Given the description of an element on the screen output the (x, y) to click on. 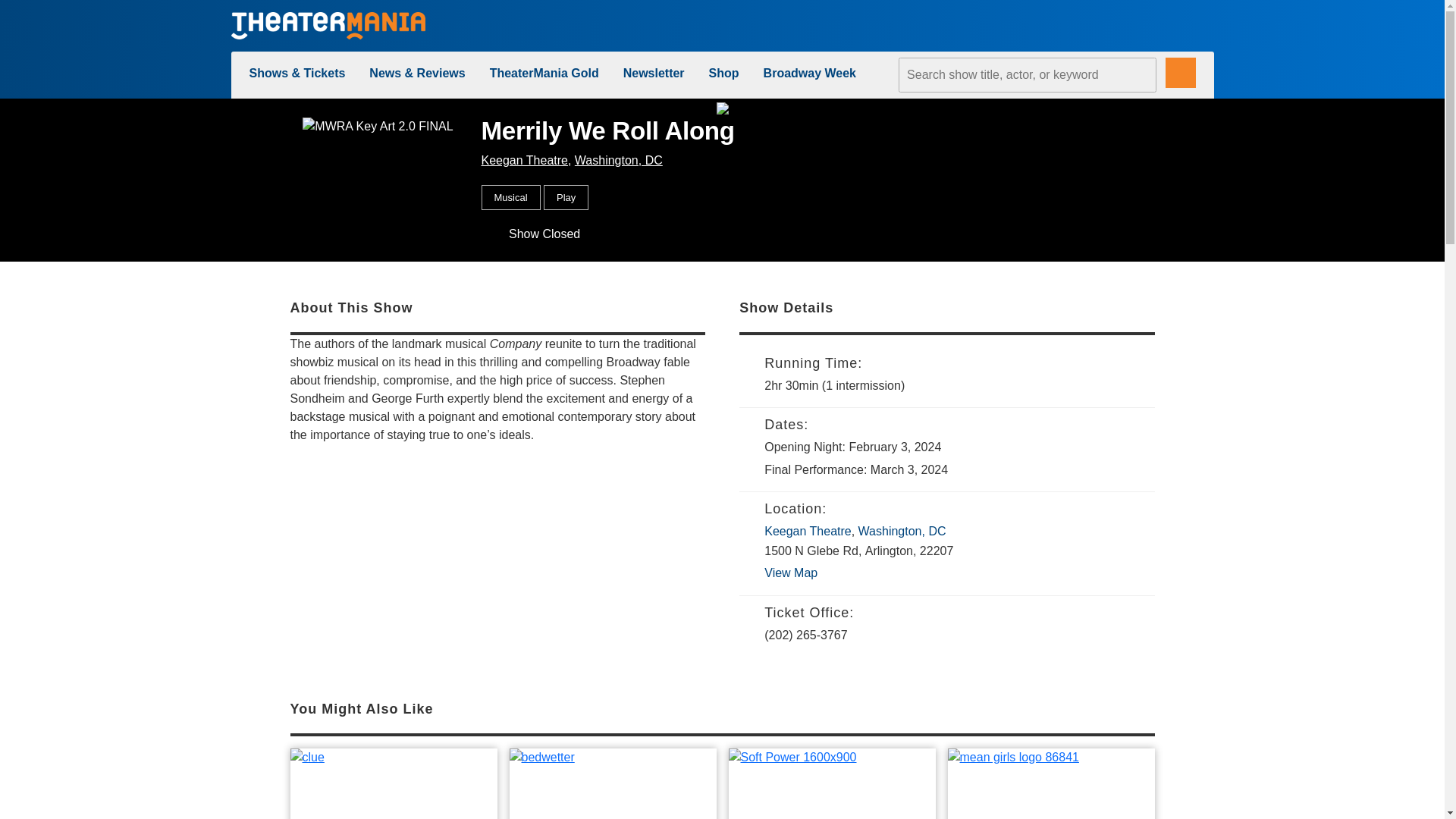
Shop (724, 72)
TheaterMania Gold (543, 72)
Newsletter (653, 72)
new-and-reviews-link (416, 72)
Broadway Week (809, 72)
